Given the description of an element on the screen output the (x, y) to click on. 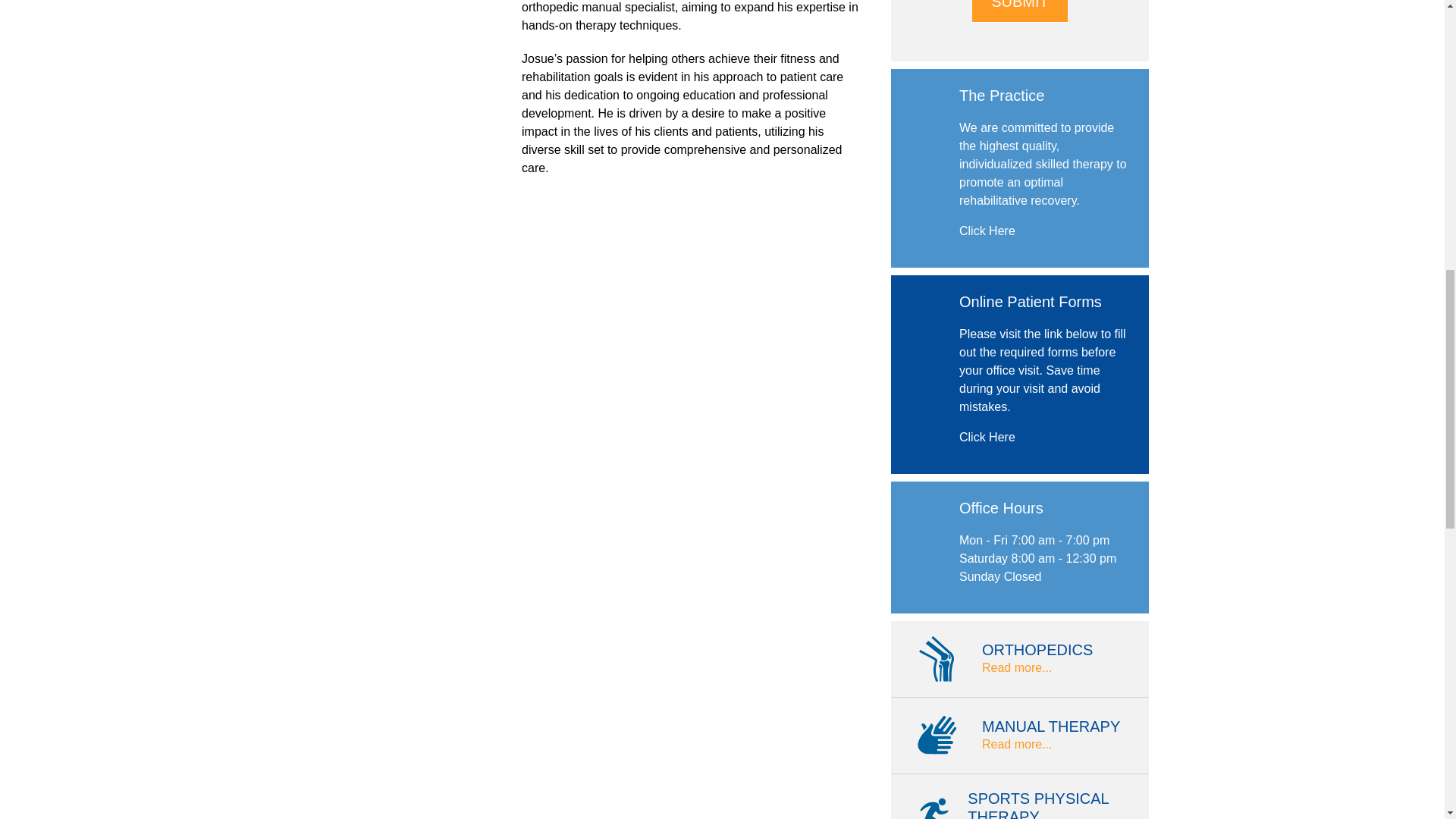
Submit (1019, 11)
